Given the description of an element on the screen output the (x, y) to click on. 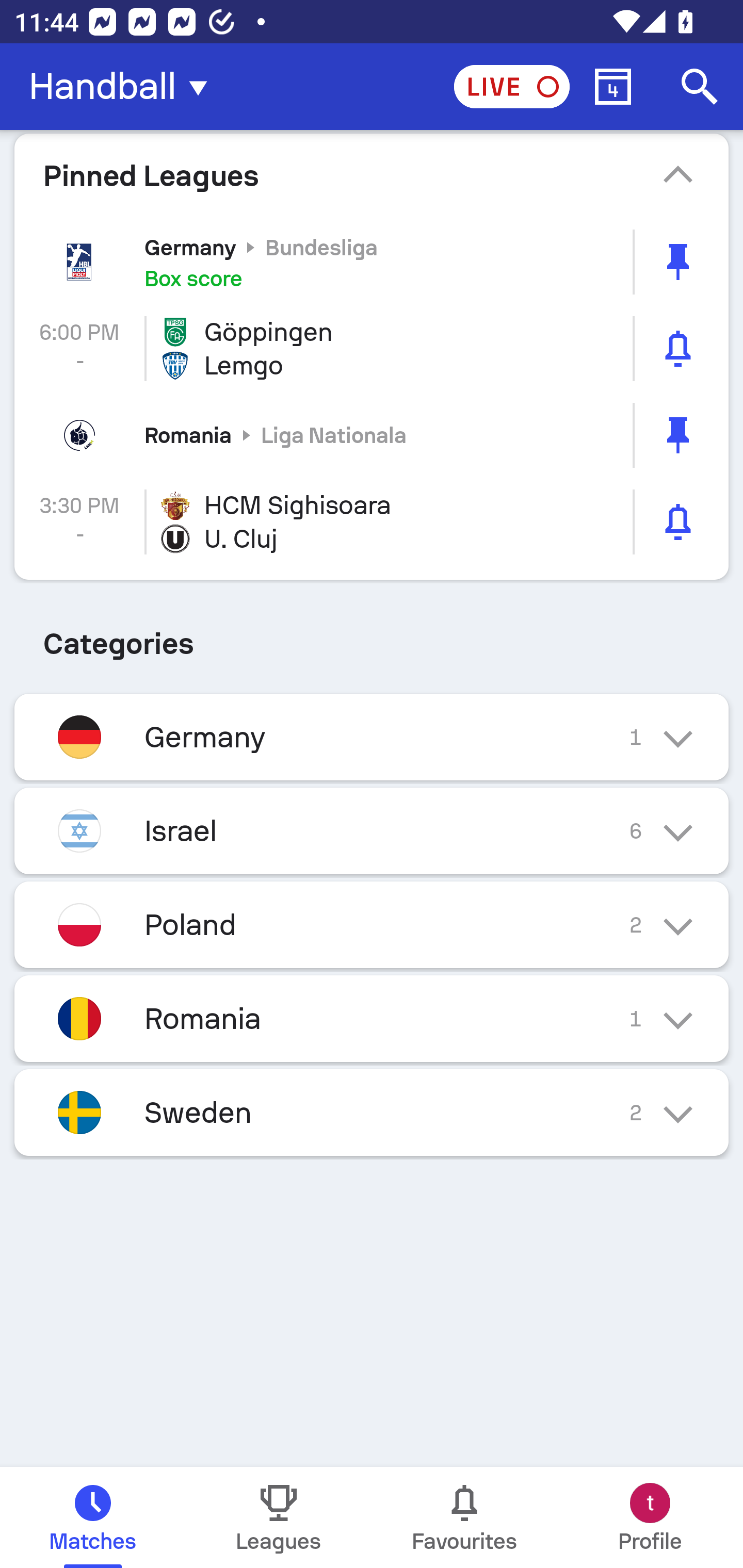
Handball (124, 86)
Calendar (612, 86)
Search (699, 86)
Pinned Leagues (371, 175)
Germany Bundesliga Box score (371, 261)
6:00 PM - Göppingen Lemgo (371, 348)
Romania Liga Nationala (371, 435)
3:30 PM - HCM Sighisoara U. Cluj (371, 522)
Categories (371, 636)
Germany 1 (371, 736)
Israel 6 (371, 830)
Poland 2 (371, 924)
Romania 1 (371, 1018)
Sweden 2 (371, 1112)
Leagues (278, 1517)
Favourites (464, 1517)
Profile (650, 1517)
